Given the description of an element on the screen output the (x, y) to click on. 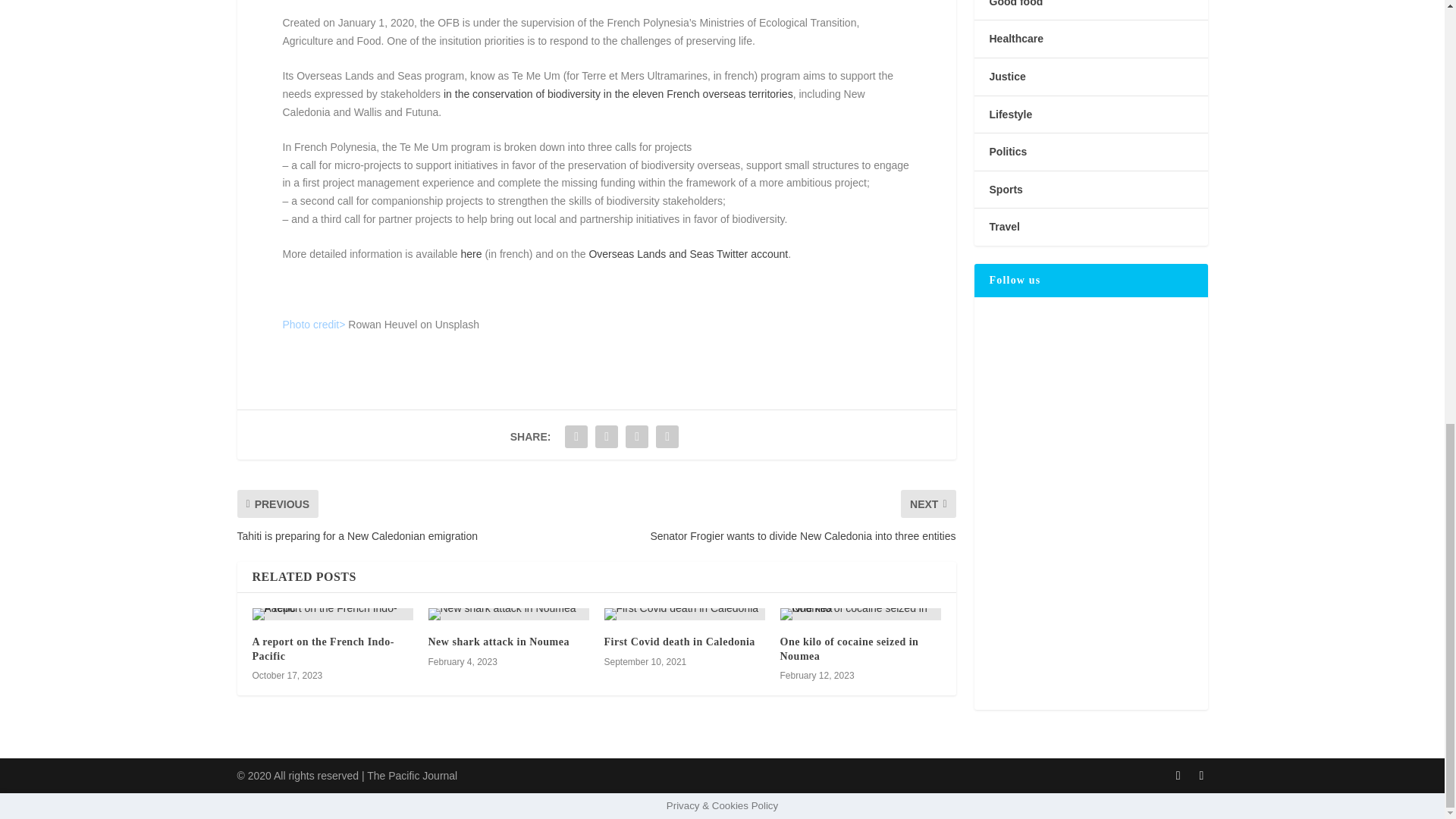
Overseas Lands and Seas Twitter account (687, 254)
New shark attack in Noumea (508, 613)
One kilo of cocaine seized in Noumea (859, 613)
First Covid death in Caledonia (684, 613)
A report on the French Indo-Pacific (331, 613)
here (471, 254)
